Given the description of an element on the screen output the (x, y) to click on. 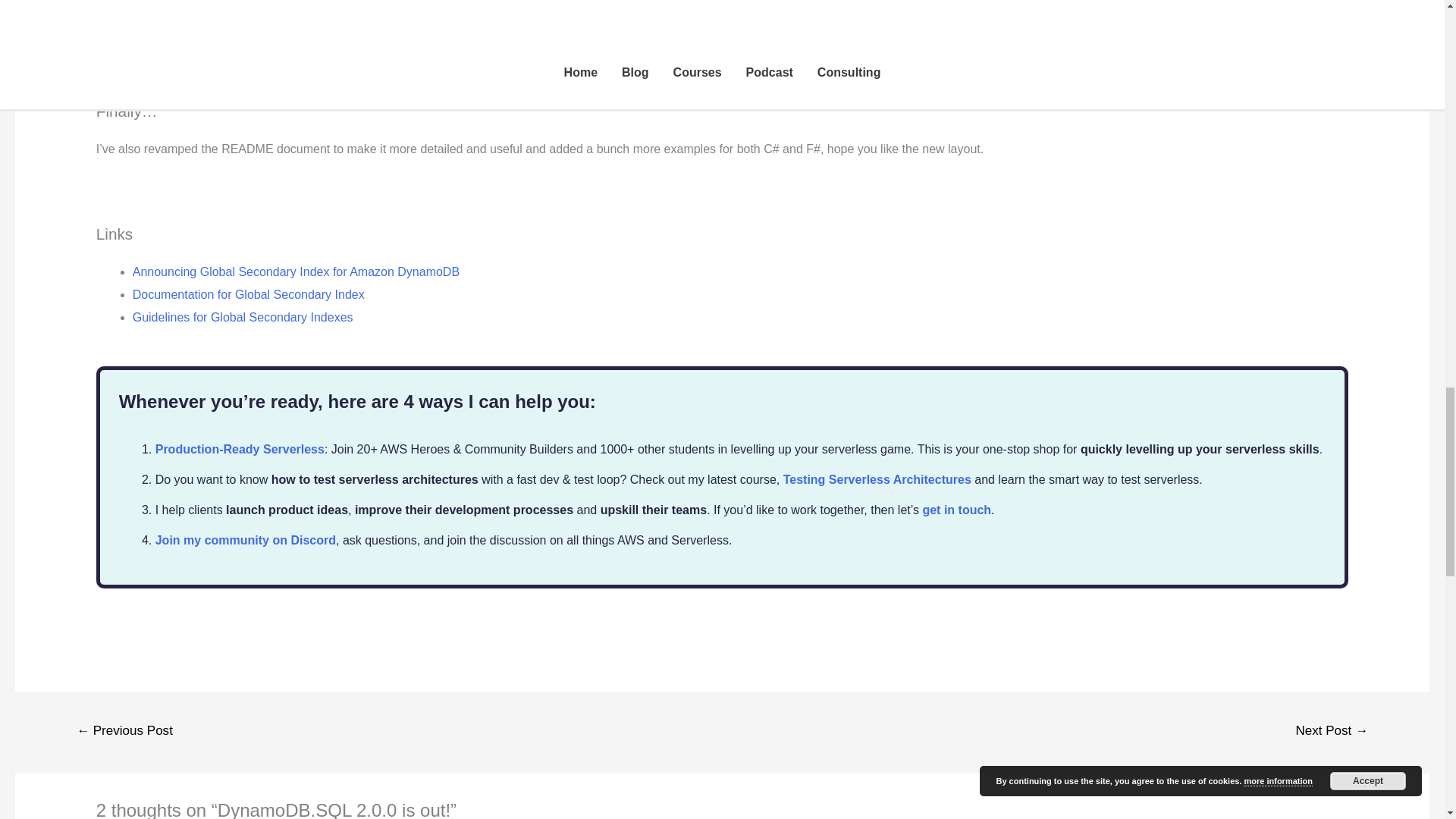
Production-Ready Serverless (239, 449)
Guidelines for Global Secondary Indexes (242, 317)
Documentation for Global Secondary Index (248, 294)
Announcing Global Secondary Index for Amazon DynamoDB (296, 271)
get in touch (956, 509)
Testing Serverless Architectures (877, 479)
Join my community on Discord (245, 540)
guidelines (651, 26)
